Given the description of an element on the screen output the (x, y) to click on. 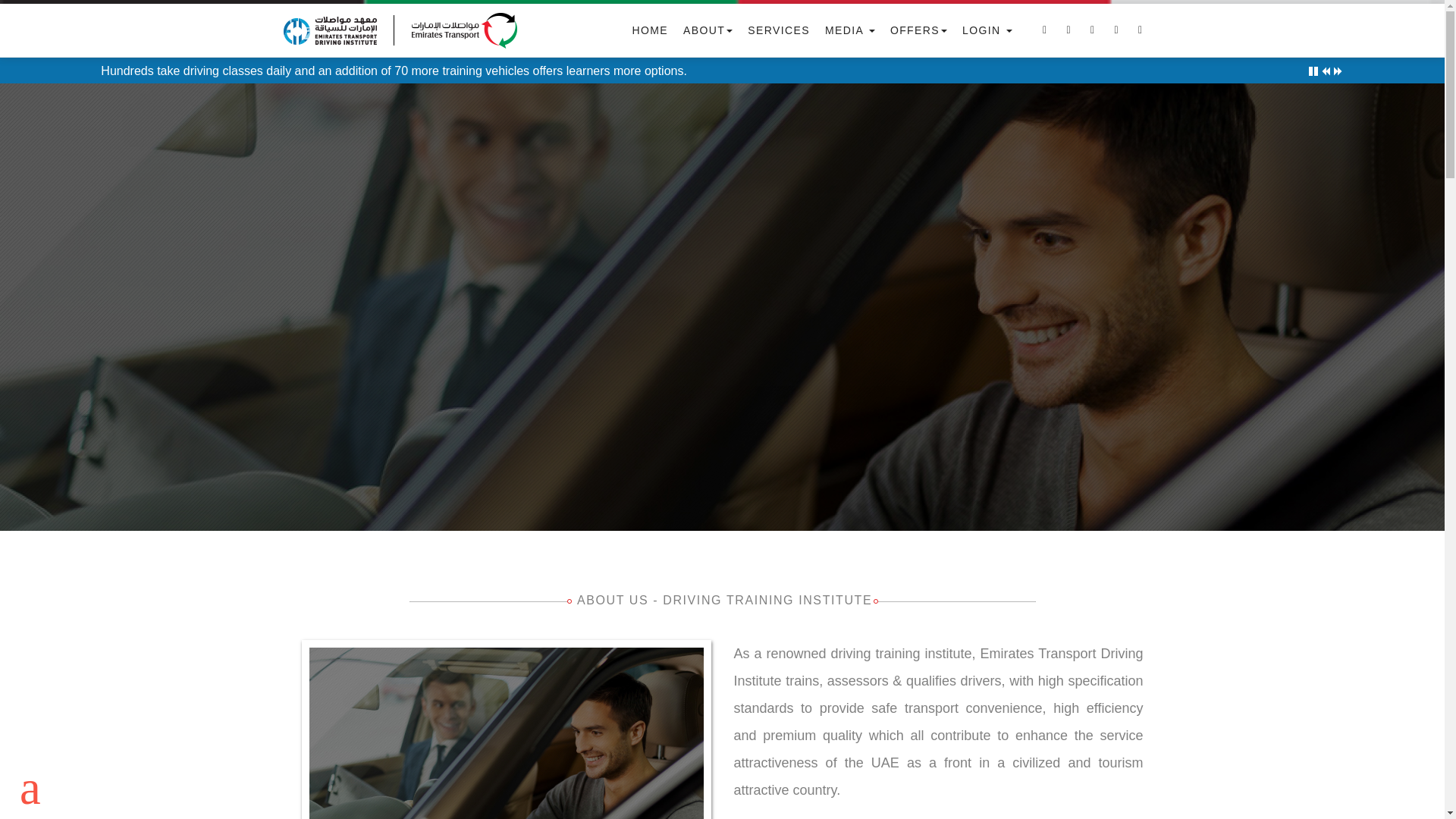
ABOUT (707, 30)
SERVICES (778, 30)
MEDIA (849, 30)
LOGIN (986, 30)
OFFERS (918, 30)
HOME (649, 30)
